Given the description of an element on the screen output the (x, y) to click on. 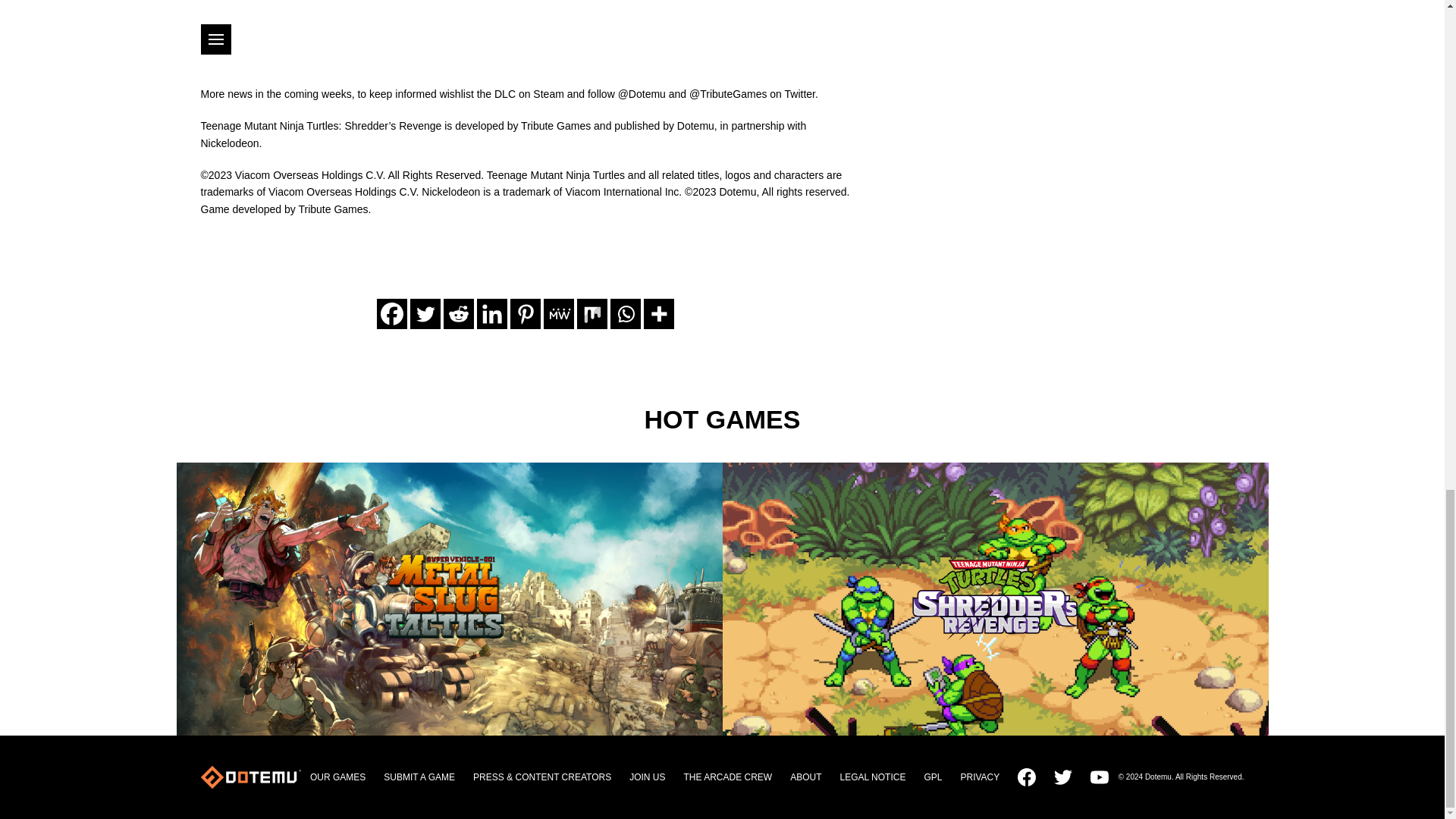
Twitter (424, 313)
Facebook (390, 313)
